Given the description of an element on the screen output the (x, y) to click on. 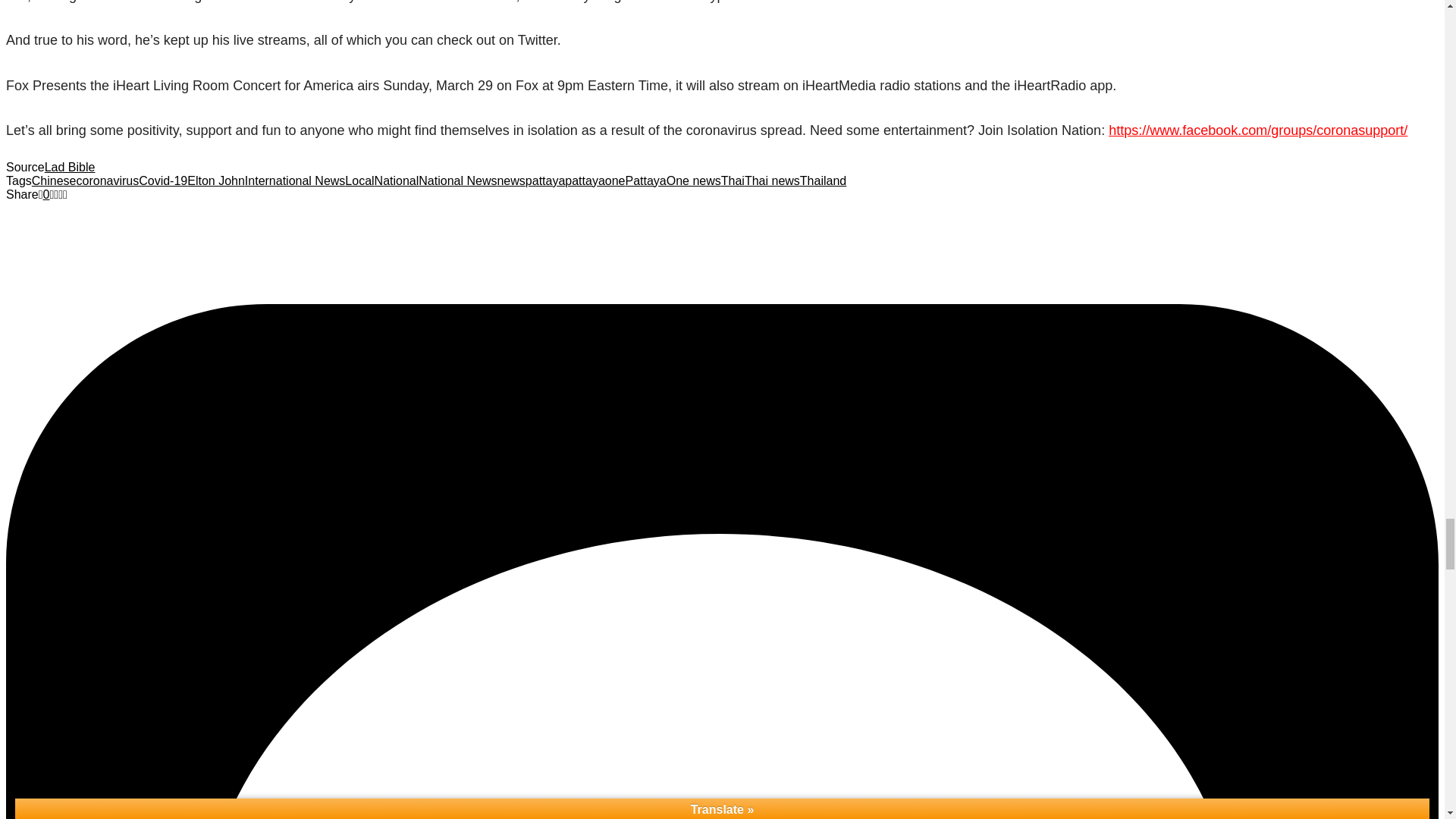
Like (44, 194)
